Given the description of an element on the screen output the (x, y) to click on. 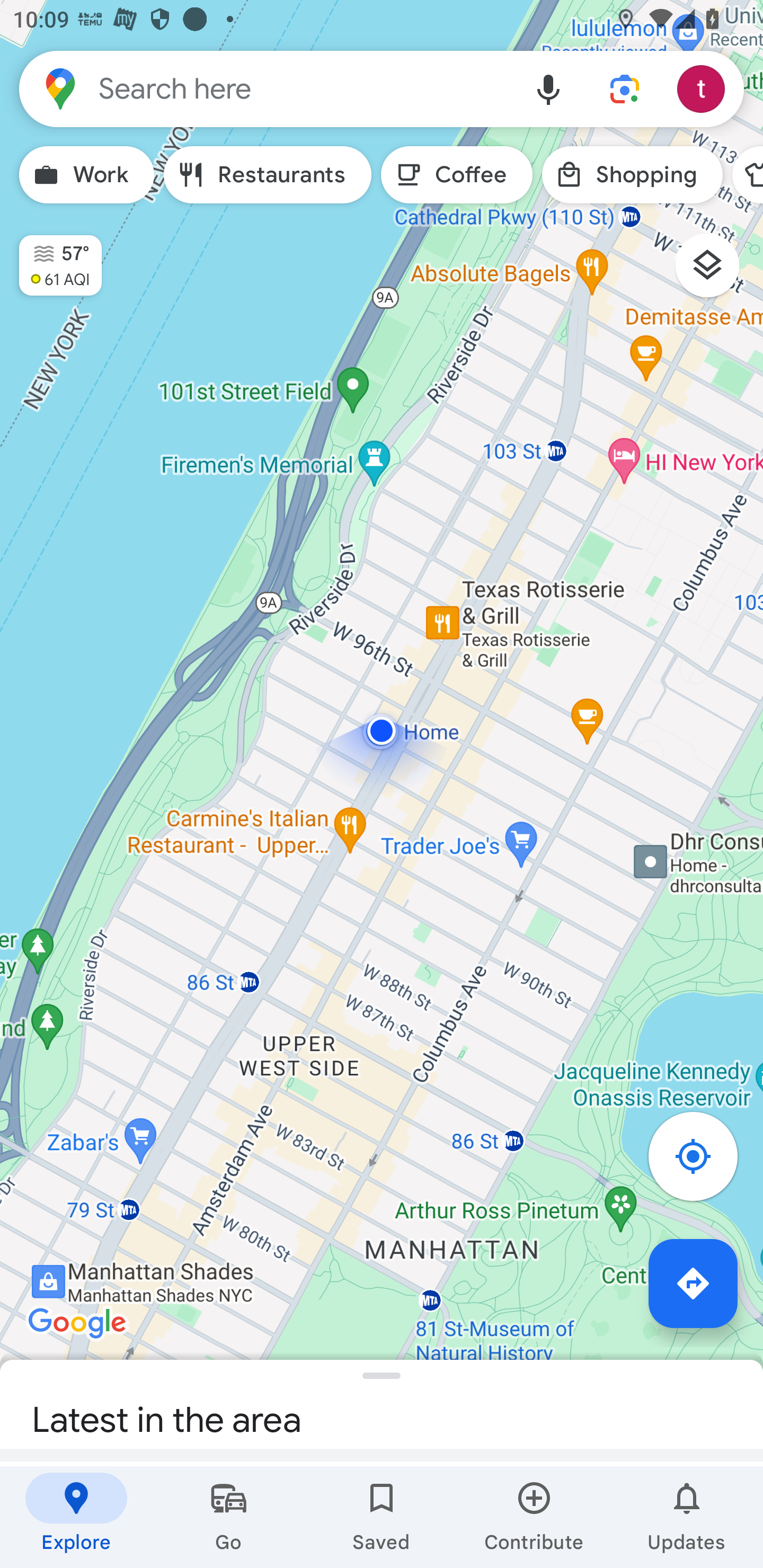
Search here (264, 88)
Voice search (548, 88)
Lens in Maps (624, 88)
Work (86, 174)
Restaurants Search for Restaurants (267, 174)
Coffee Search for Coffee (456, 174)
Shopping Search for Shopping (631, 174)
Mist, 57°, Moderate, 61 AQI 57° 61 AQI (50, 257)
Layers (716, 271)
Enter compass mode (702, 1161)
Directions (692, 1283)
Go (228, 1517)
Saved (381, 1517)
Contribute (533, 1517)
Updates (686, 1517)
